Given the description of an element on the screen output the (x, y) to click on. 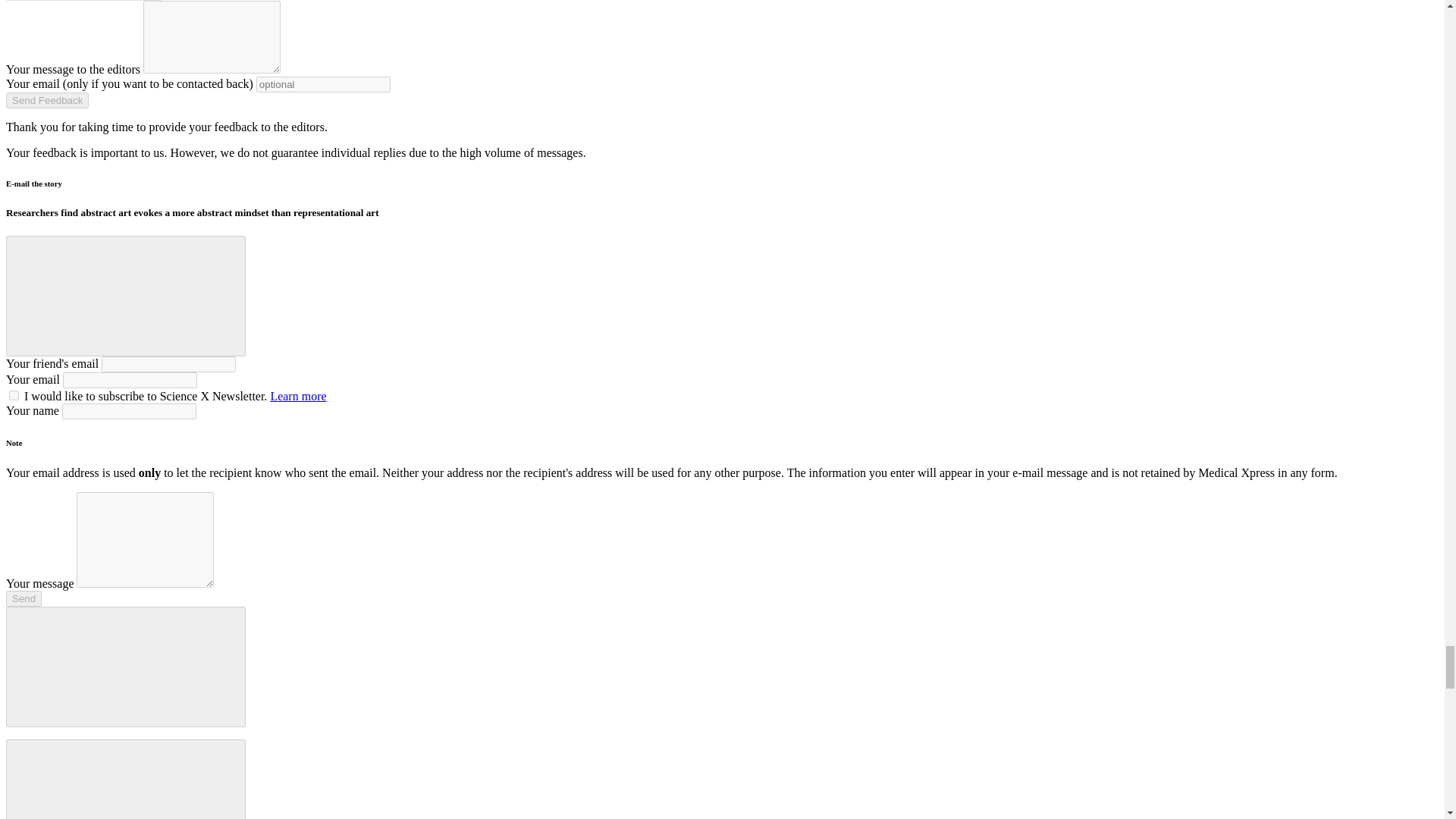
1 (13, 395)
